Given the description of an element on the screen output the (x, y) to click on. 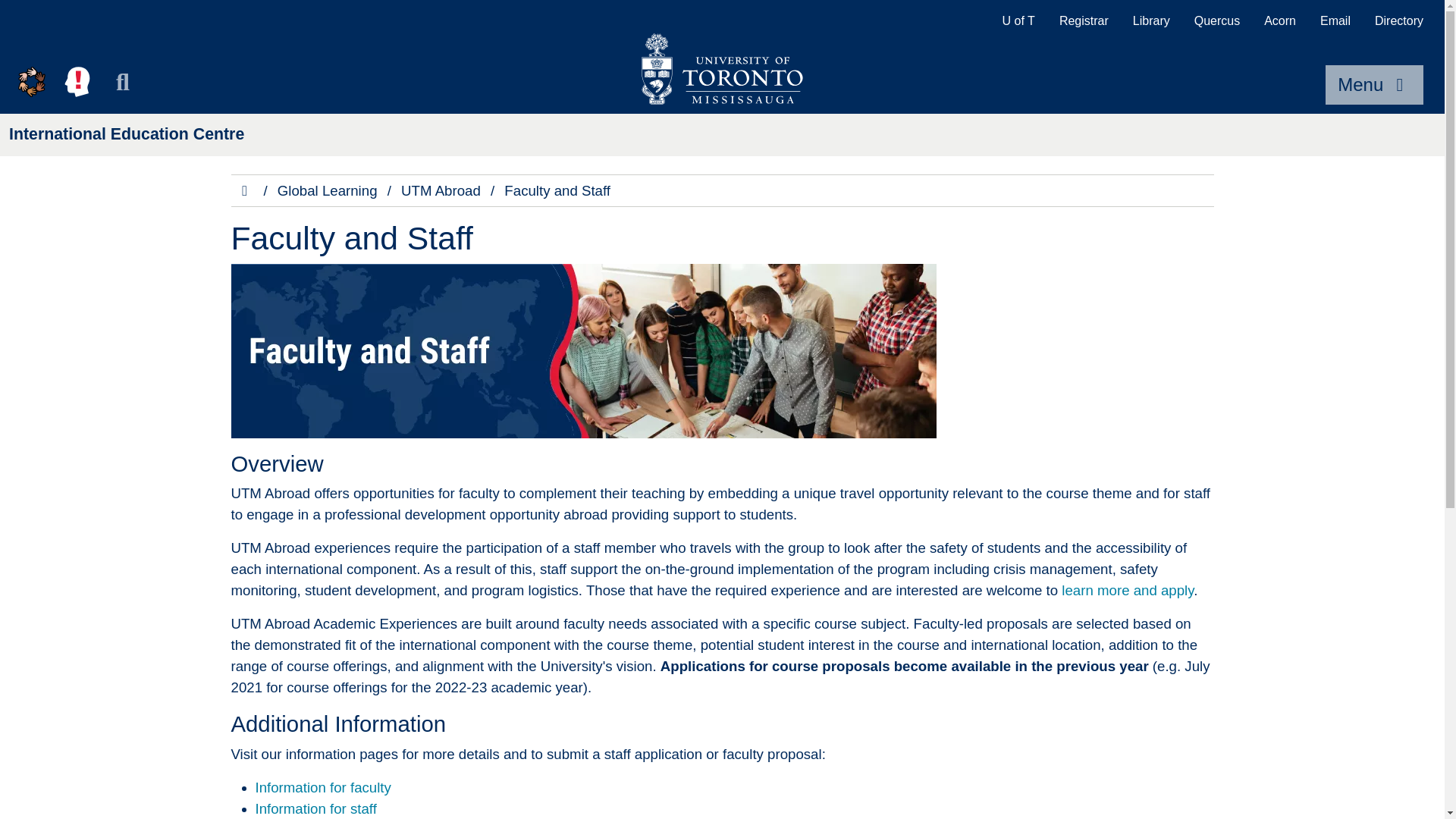
Search (122, 81)
U of T (1018, 21)
menu (1373, 84)
Library (1151, 21)
Quercus (1217, 21)
International Education Centre (126, 134)
Search (122, 81)
Directory (1398, 21)
Email (1334, 21)
Acorn (1279, 21)
Registrar (1083, 21)
Menu (1373, 84)
